Given the description of an element on the screen output the (x, y) to click on. 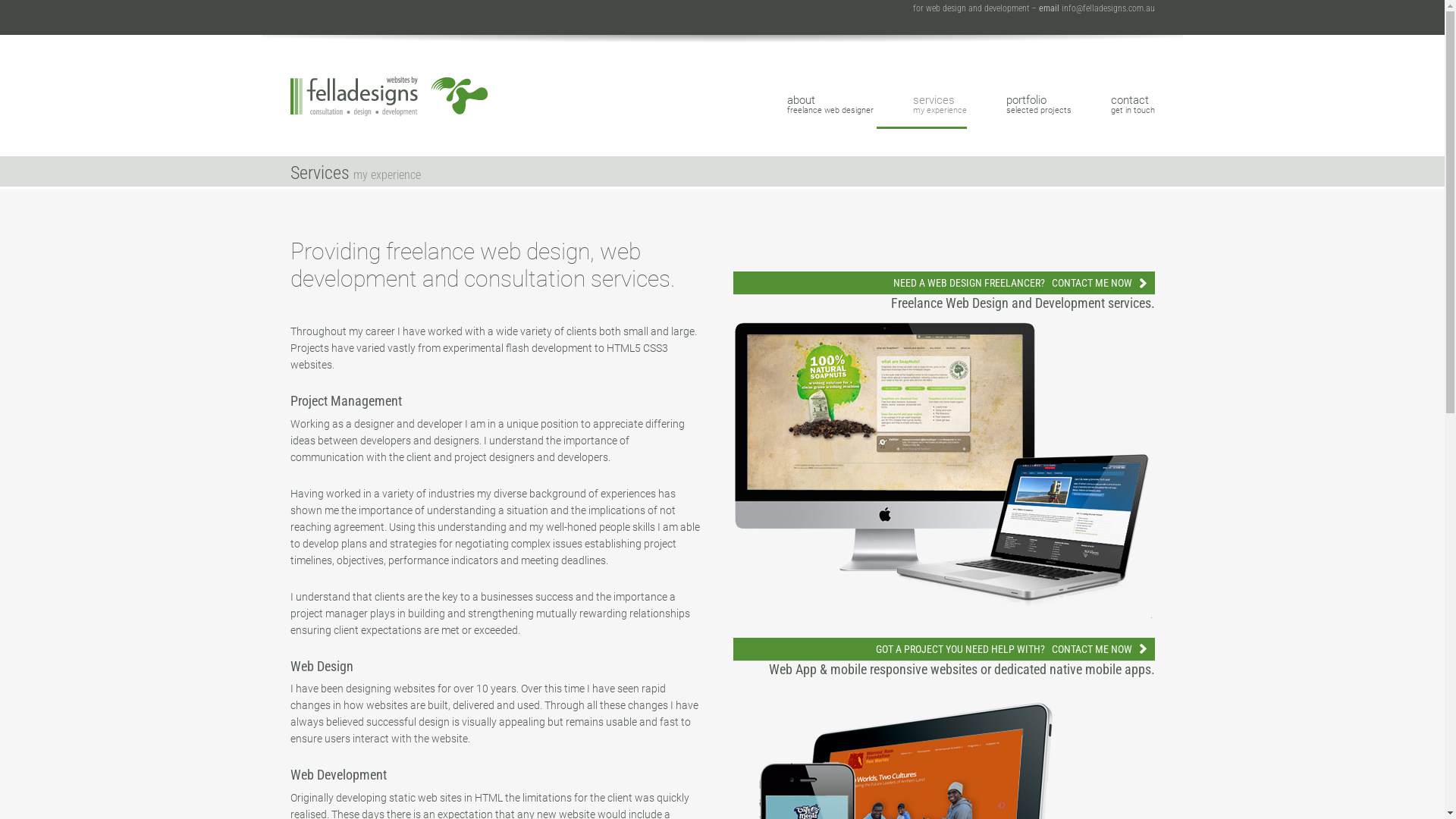
portfolio
selected projects Element type: text (1019, 101)
NEED A WEB DESIGN FREELANCER?   CONTACT ME NOW Element type: text (943, 282)
info@felladesigns.com.au Element type: text (1107, 8)
contact
get in touch Element type: text (1113, 101)
FELLADESIGNS Element type: text (391, 72)
GOT A PROJECT YOU NEED HELP WITH?   CONTACT ME NOW Element type: text (943, 649)
about
freelance web designer Element type: text (811, 101)
services
my experience Element type: text (921, 101)
